Given the description of an element on the screen output the (x, y) to click on. 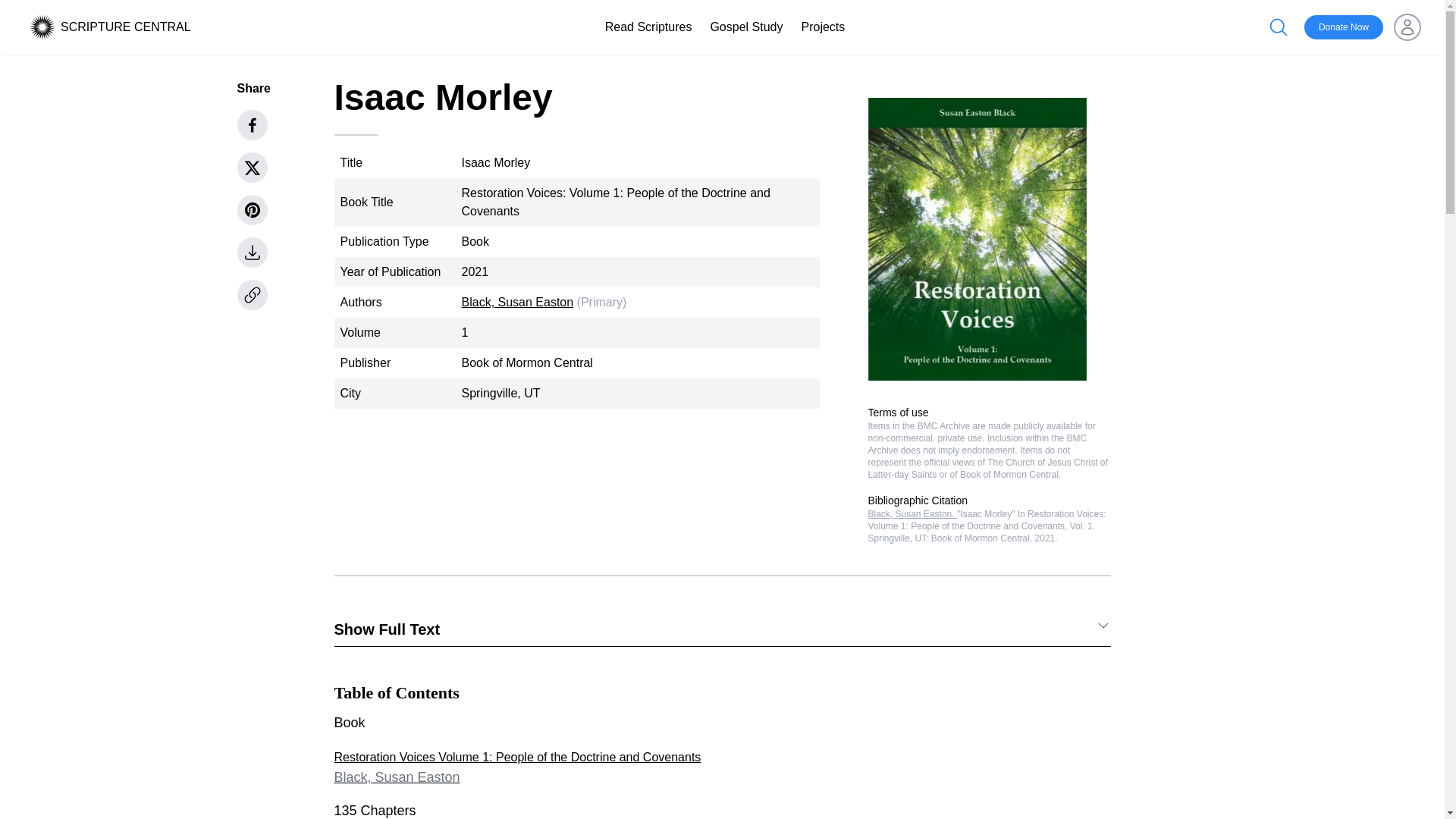
Black, Susan Easton (517, 301)
Donate Now (1343, 27)
Projects (822, 26)
Open user menu (1406, 27)
Read Scriptures (649, 27)
Read Scriptures (649, 26)
Gospel Study (746, 26)
Gospel Study (746, 27)
SCRIPTURE CENTRAL (125, 27)
